Given the description of an element on the screen output the (x, y) to click on. 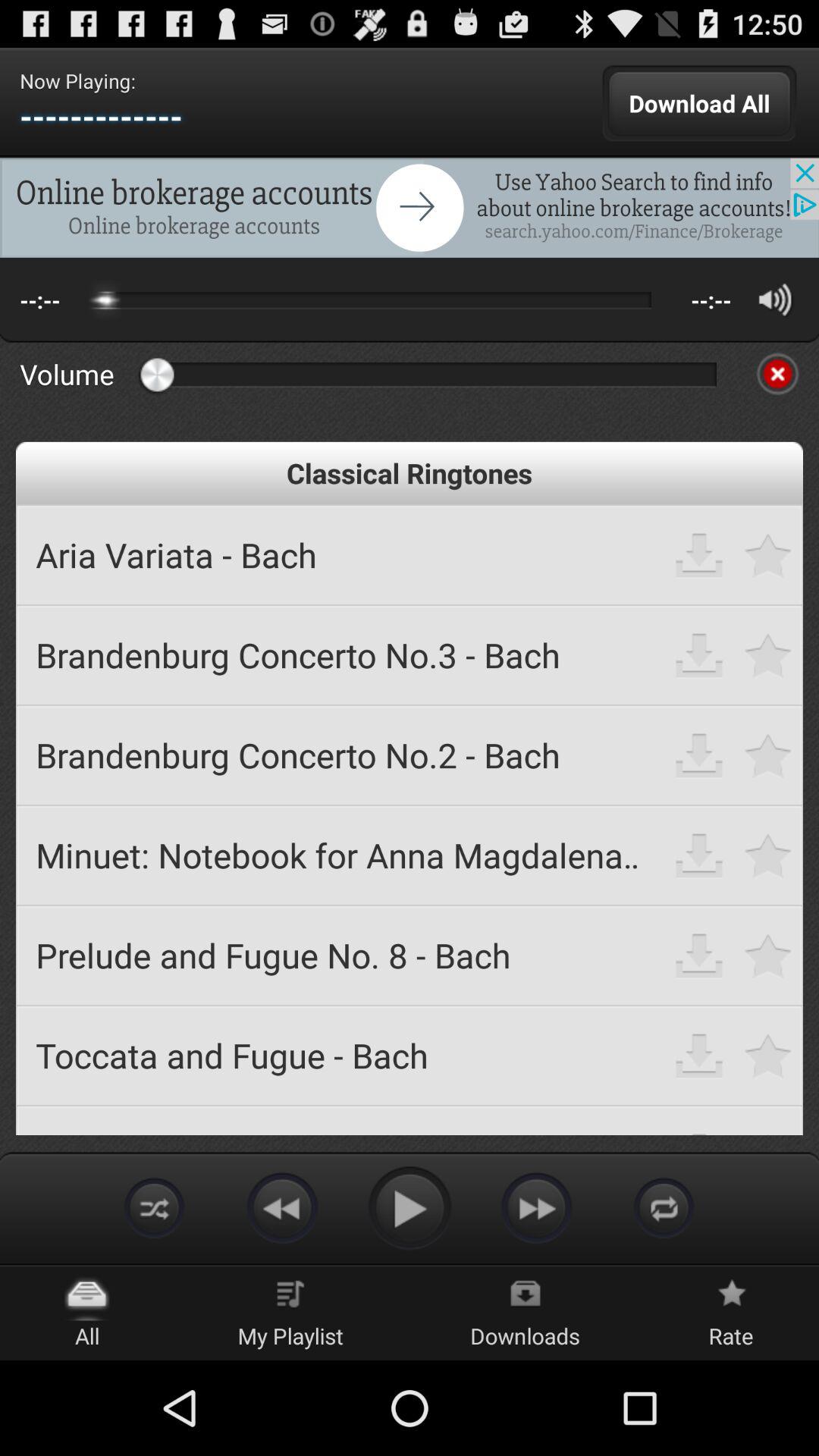
download ringtone (699, 854)
